Given the description of an element on the screen output the (x, y) to click on. 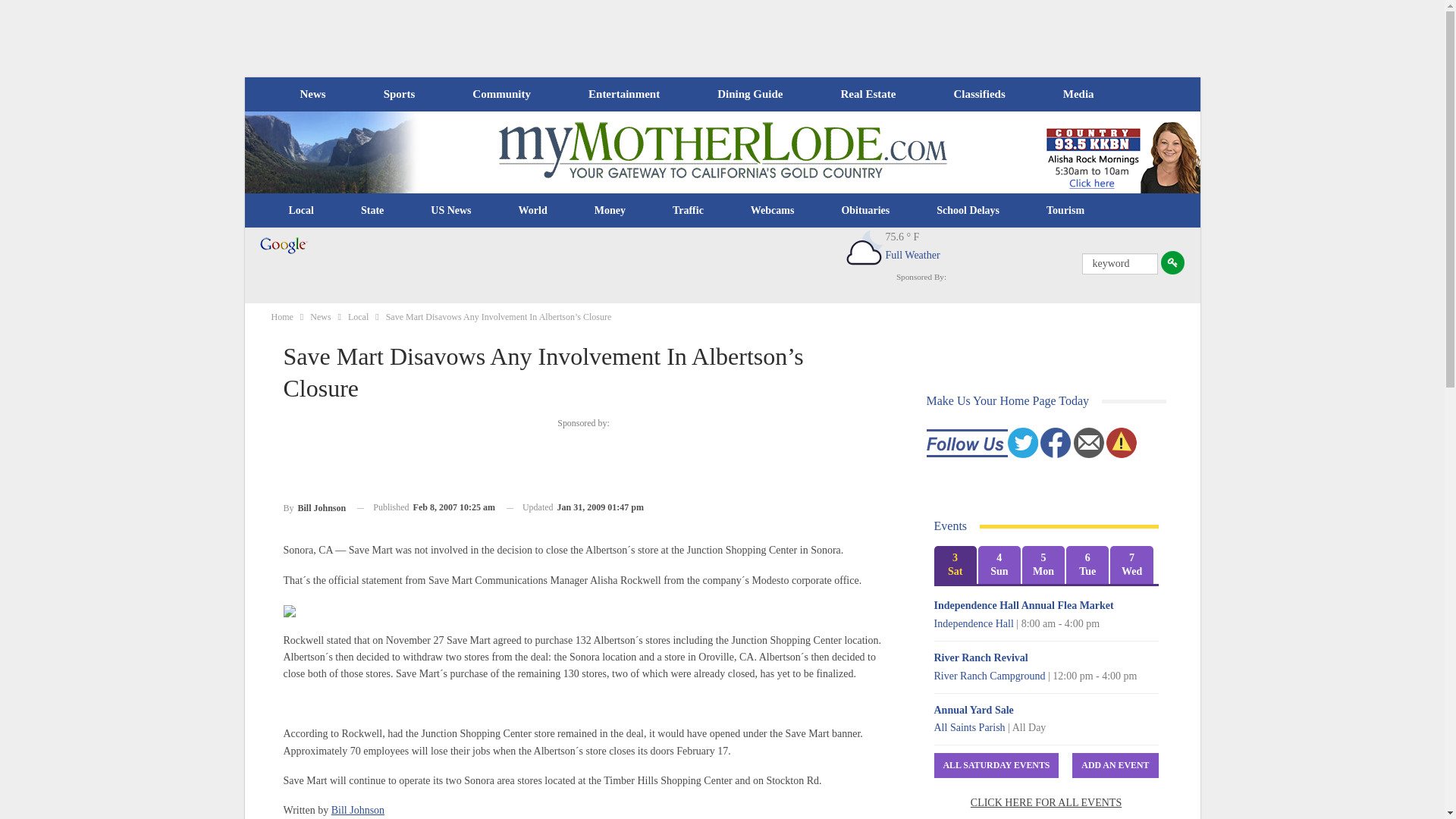
Mostly Clear (864, 249)
Browse Author Articles (314, 507)
Local (300, 210)
All Saturday Events (996, 765)
Dining Guide (749, 93)
Money (609, 210)
State (372, 210)
Sports (399, 93)
Webcams (772, 210)
Submit (1172, 262)
Community (501, 93)
